Given the description of an element on the screen output the (x, y) to click on. 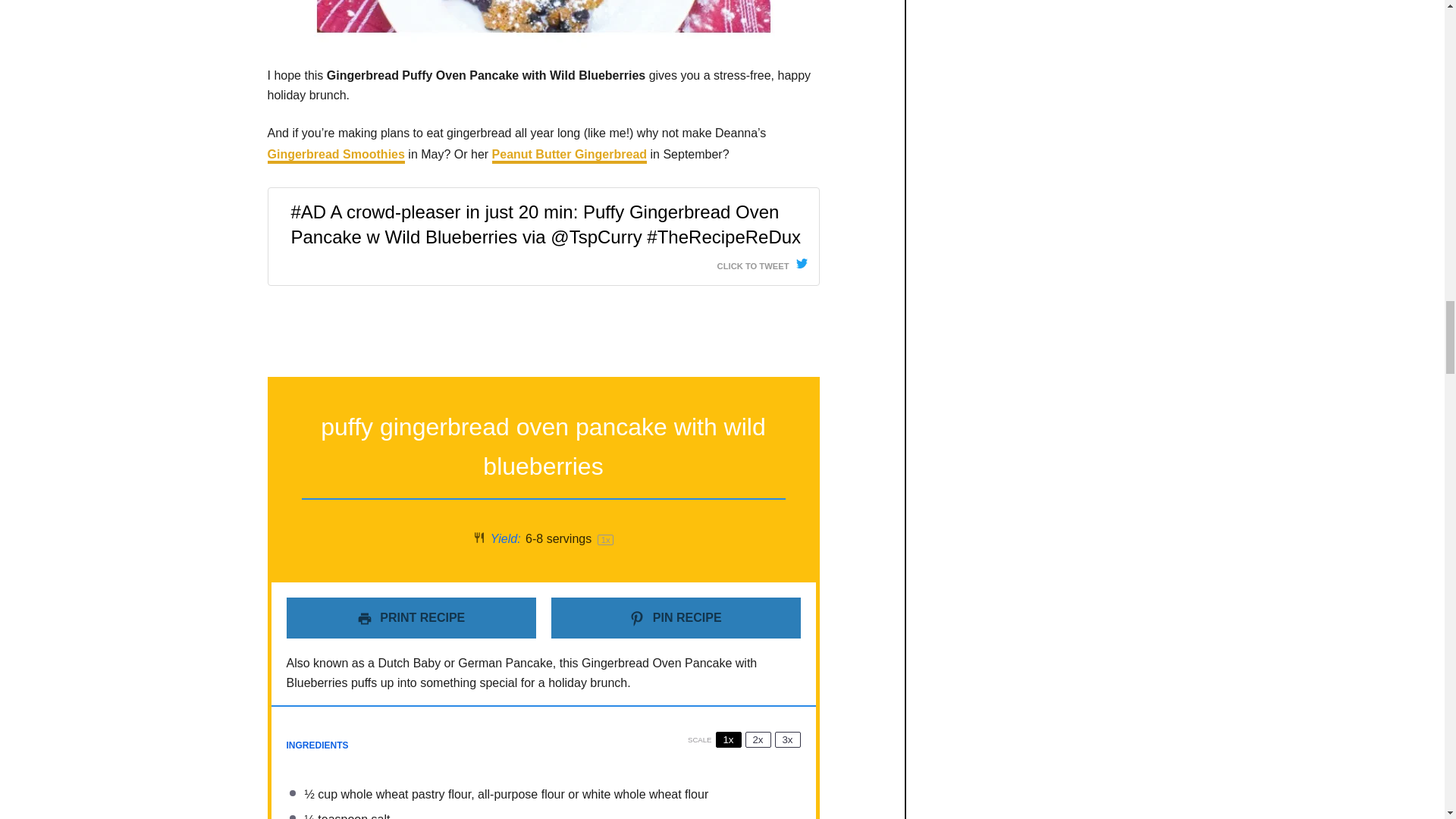
Peanut Butter Gingerbread (569, 155)
PIN RECIPE (674, 617)
CLICK TO TWEET (762, 261)
1x (728, 739)
PRINT RECIPE (410, 617)
Gingerbread Smoothies (335, 155)
